Given the description of an element on the screen output the (x, y) to click on. 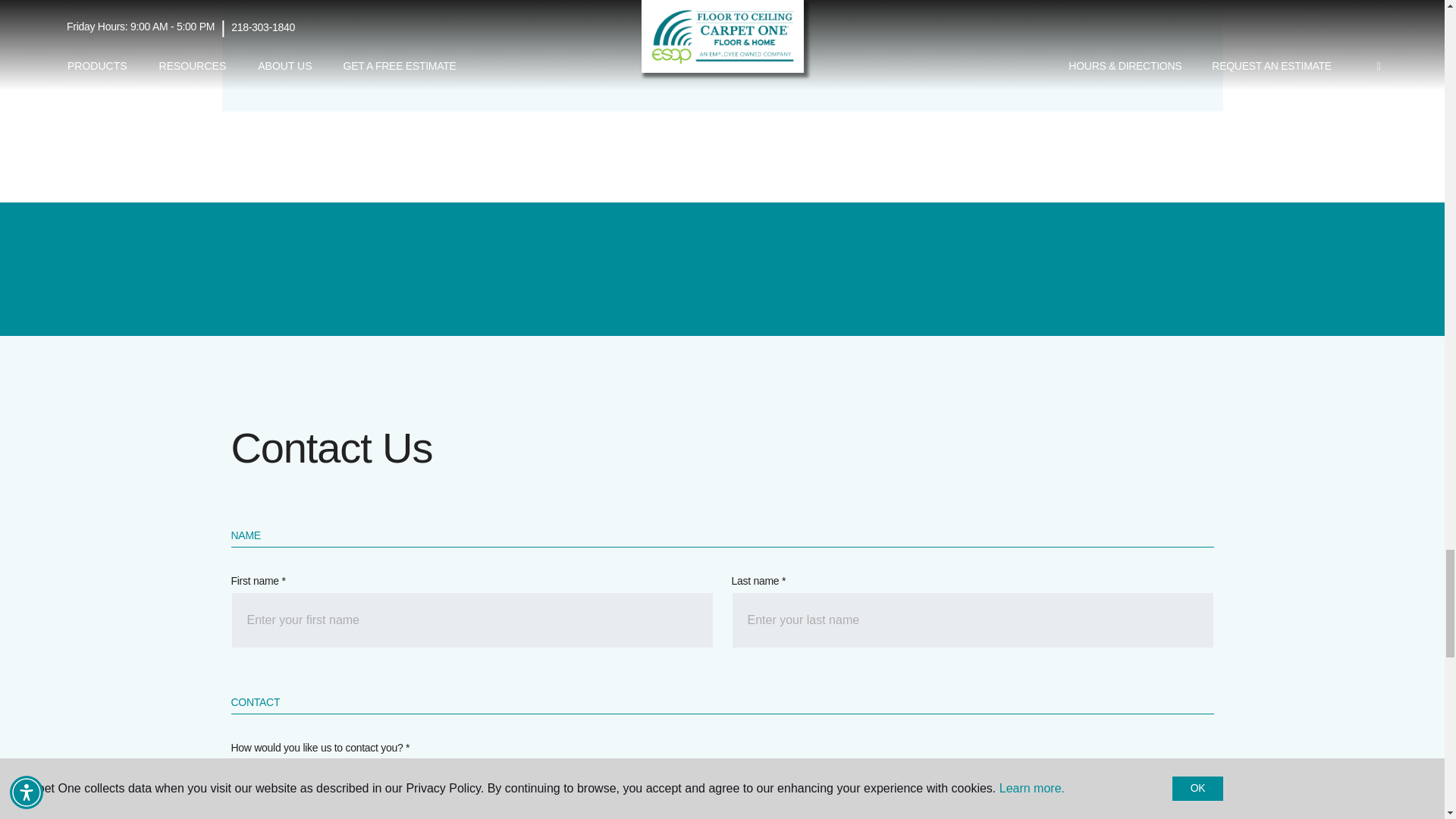
LastName (971, 620)
FirstName (471, 620)
